Given the description of an element on the screen output the (x, y) to click on. 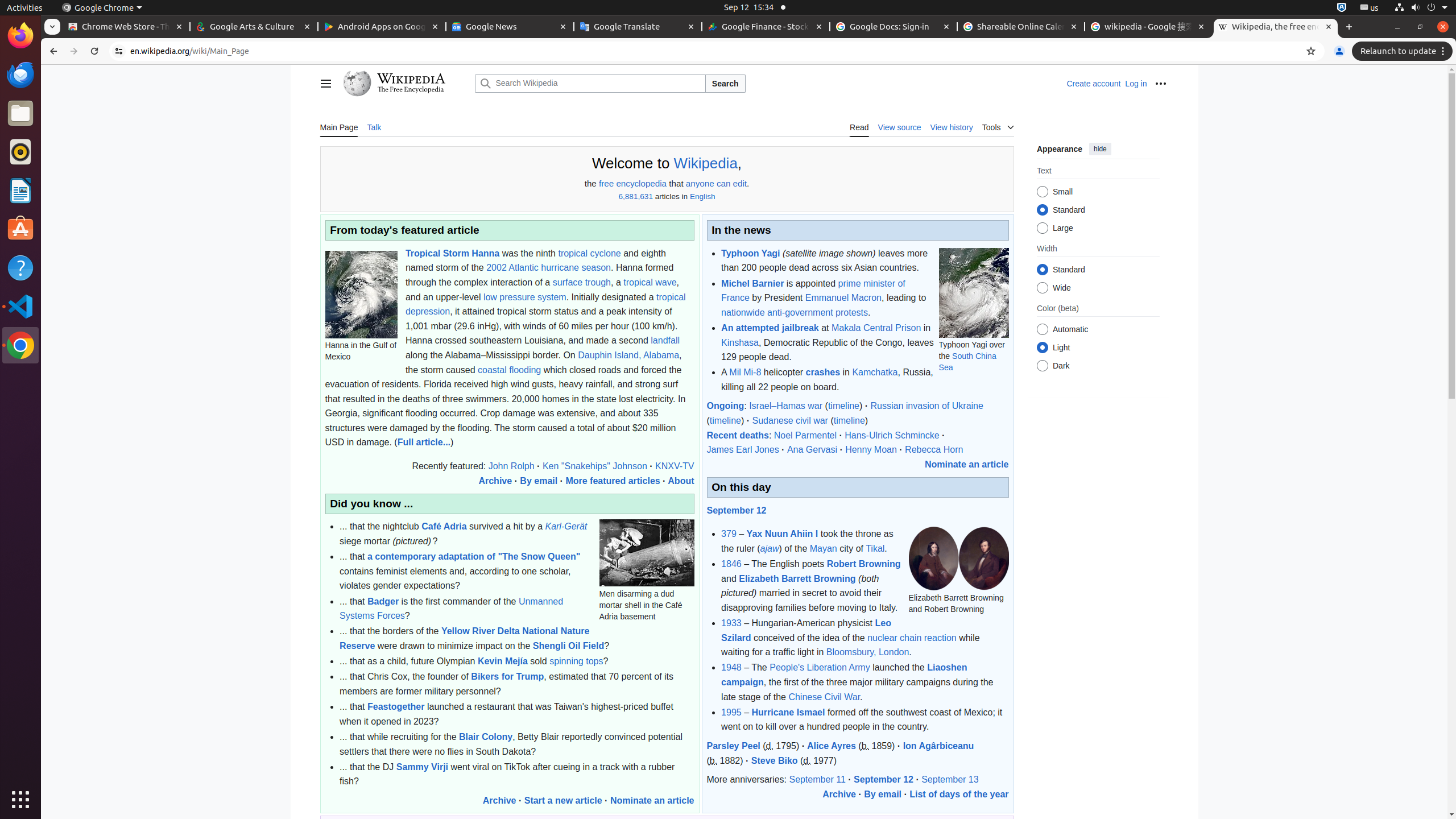
Large Element type: radio-button (1042, 228)
hide Element type: push-button (1099, 148)
Full article... Element type: link (423, 442)
wikipedia - Google 搜索 - Memory usage - 90.0 MB Element type: page-tab (1148, 26)
Yellow River Delta National Nature Reserve Element type: link (464, 638)
